Given the description of an element on the screen output the (x, y) to click on. 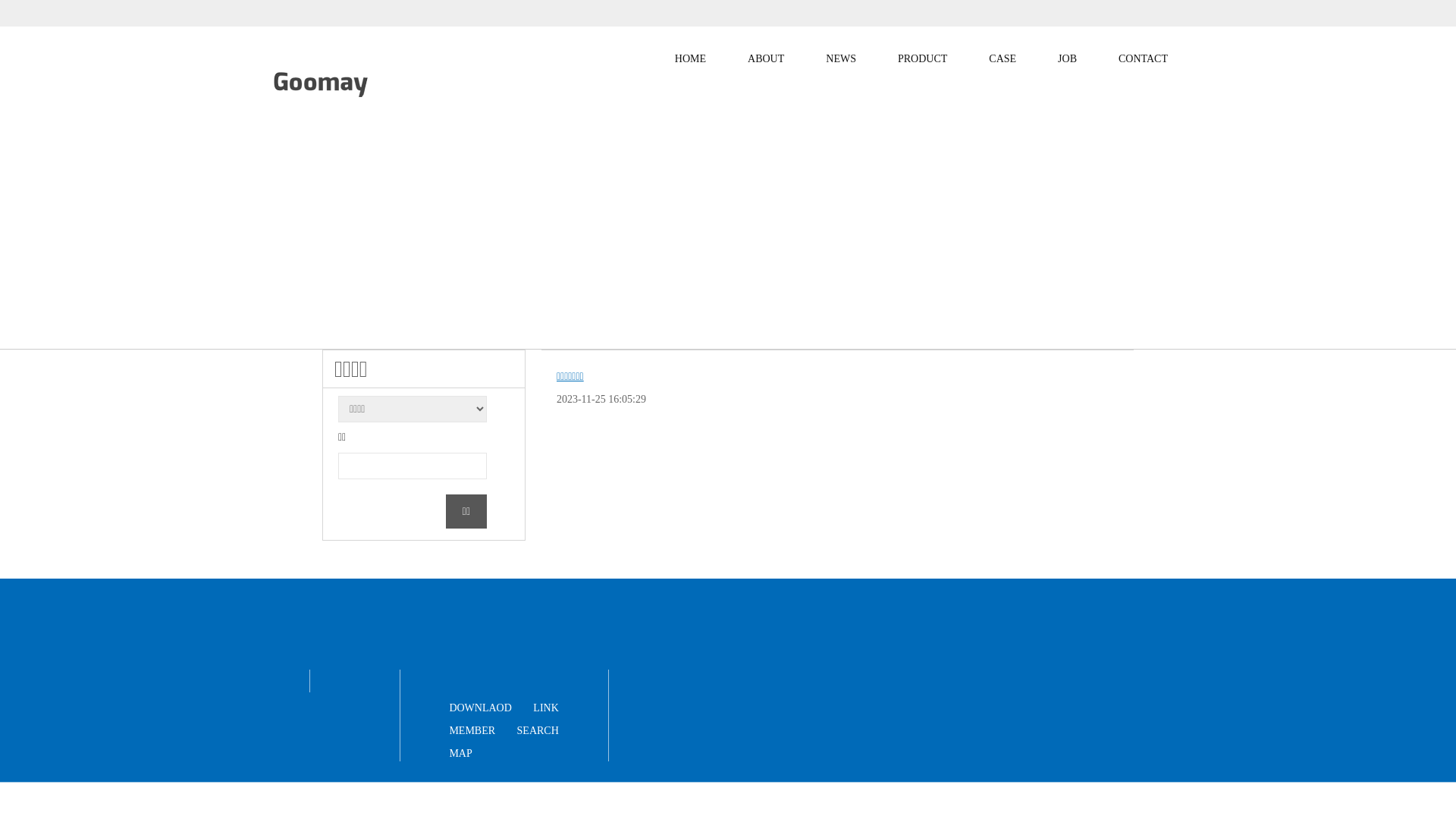
ABOUT Element type: text (765, 58)
MAP Element type: text (459, 753)
CONTACT Element type: text (1143, 58)
DOWNLAOD Element type: text (479, 707)
JOB Element type: text (1067, 58)
NEWS Element type: text (840, 58)
HOME Element type: text (690, 58)
CASE Element type: text (1002, 58)
PRODUCT Element type: text (922, 58)
SEARCH Element type: text (537, 730)
LINK Element type: text (545, 707)
MEMBER Element type: text (471, 730)
